Given the description of an element on the screen output the (x, y) to click on. 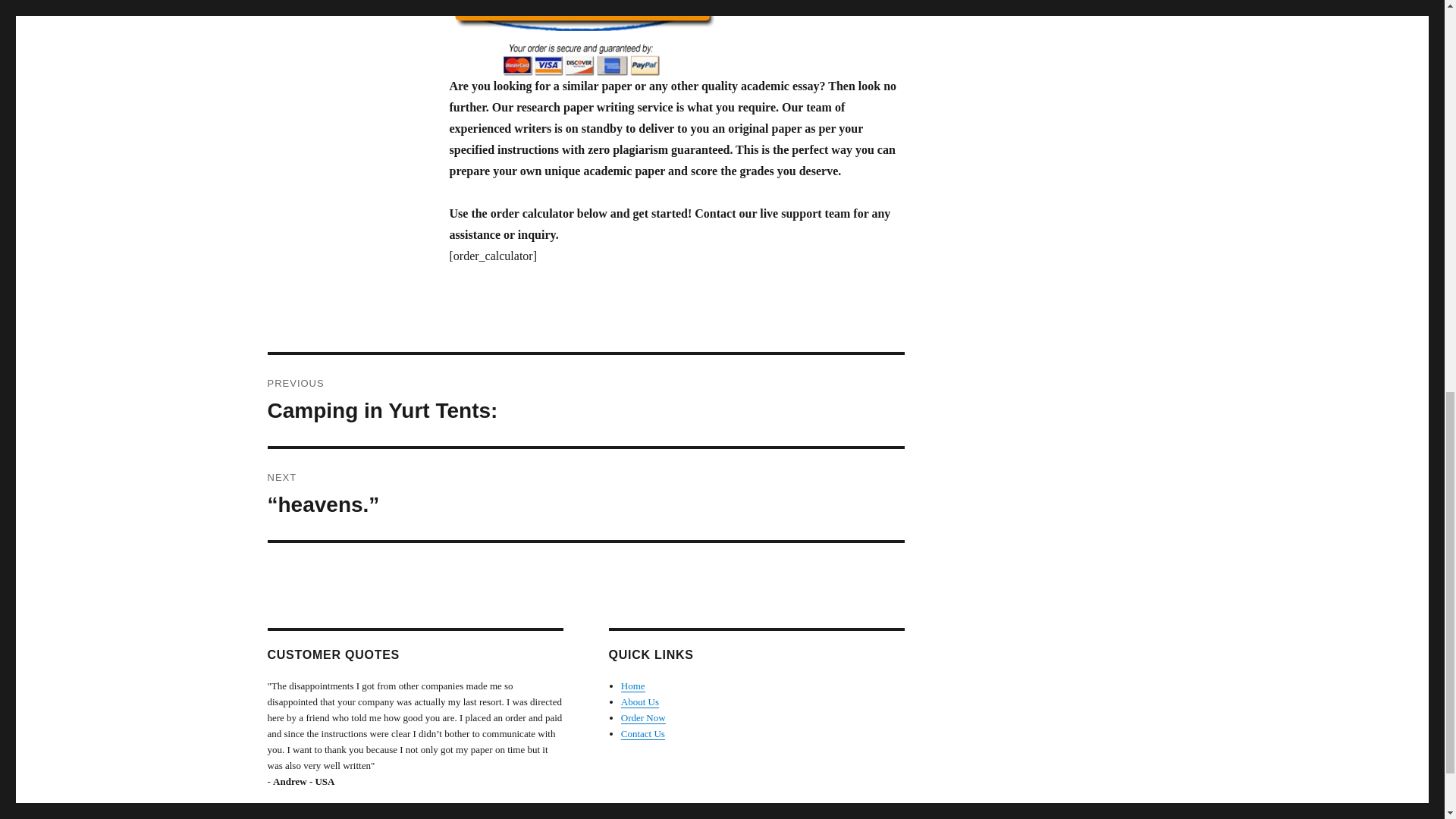
Click to Order (676, 38)
